Given the description of an element on the screen output the (x, y) to click on. 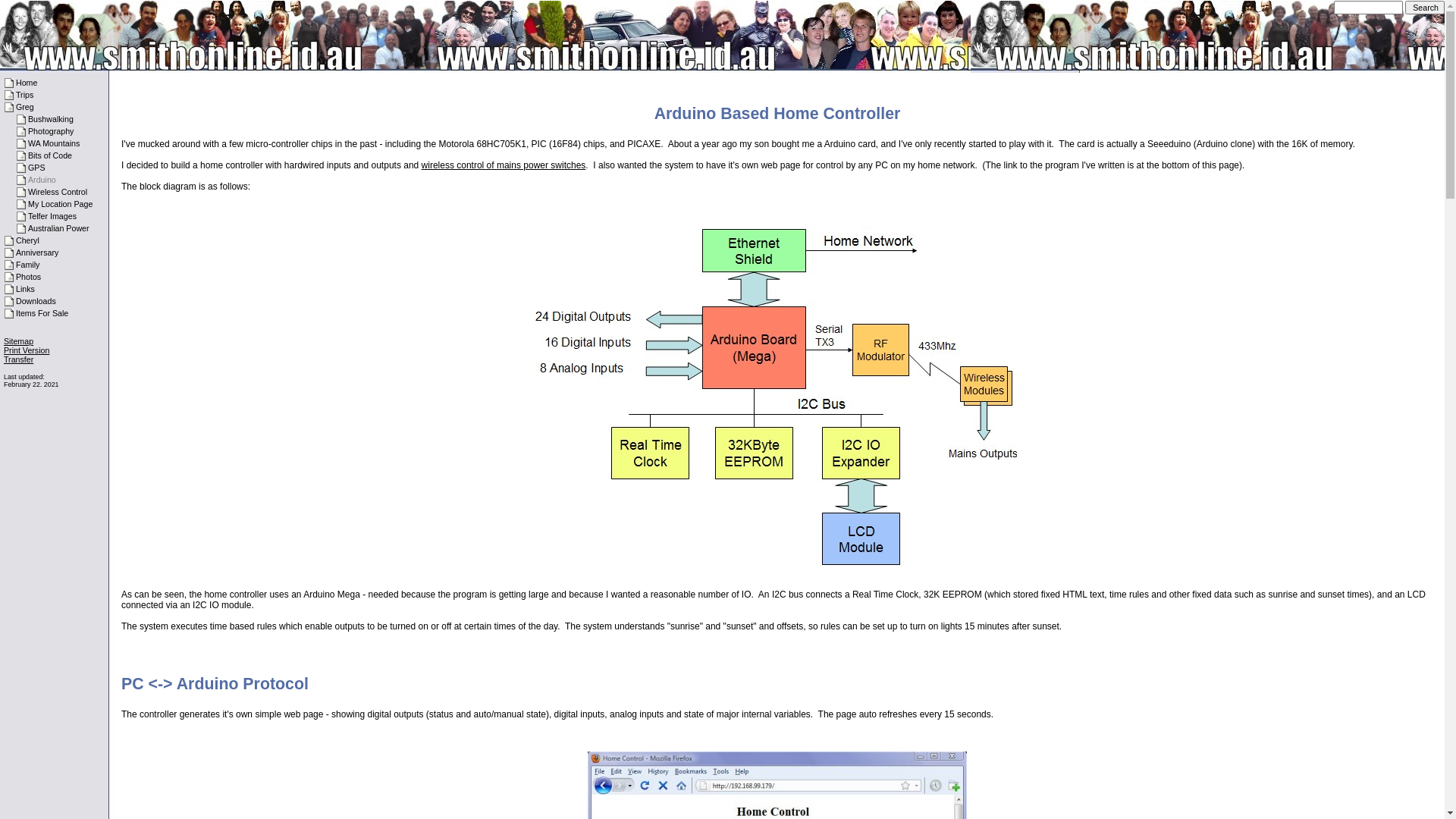
Greg Element type: text (24, 106)
Login Element type: text (13, 368)
Home Element type: text (26, 82)
Australian Power Element type: text (58, 227)
Telfer Images Element type: text (52, 215)
Trips Element type: text (24, 94)
GPS Element type: text (36, 167)
Print Version Element type: text (26, 349)
Photos Element type: text (27, 276)
Links Element type: text (24, 288)
Wireless Control Element type: text (57, 191)
Photography Element type: text (50, 130)
Bushwalking Element type: text (50, 118)
Bits of Code Element type: text (50, 155)
Cheryl Element type: text (27, 239)
Items For Sale Element type: text (41, 312)
Transfer Element type: text (18, 359)
Family Element type: text (27, 264)
Search Element type: text (1424, 7)
Sitemap Element type: text (18, 340)
Downloads Element type: text (35, 300)
My Location Page Element type: text (60, 203)
WA Mountains Element type: text (53, 142)
wireless control of mains power switches Element type: text (503, 165)
Anniversary Element type: text (36, 252)
